Given the description of an element on the screen output the (x, y) to click on. 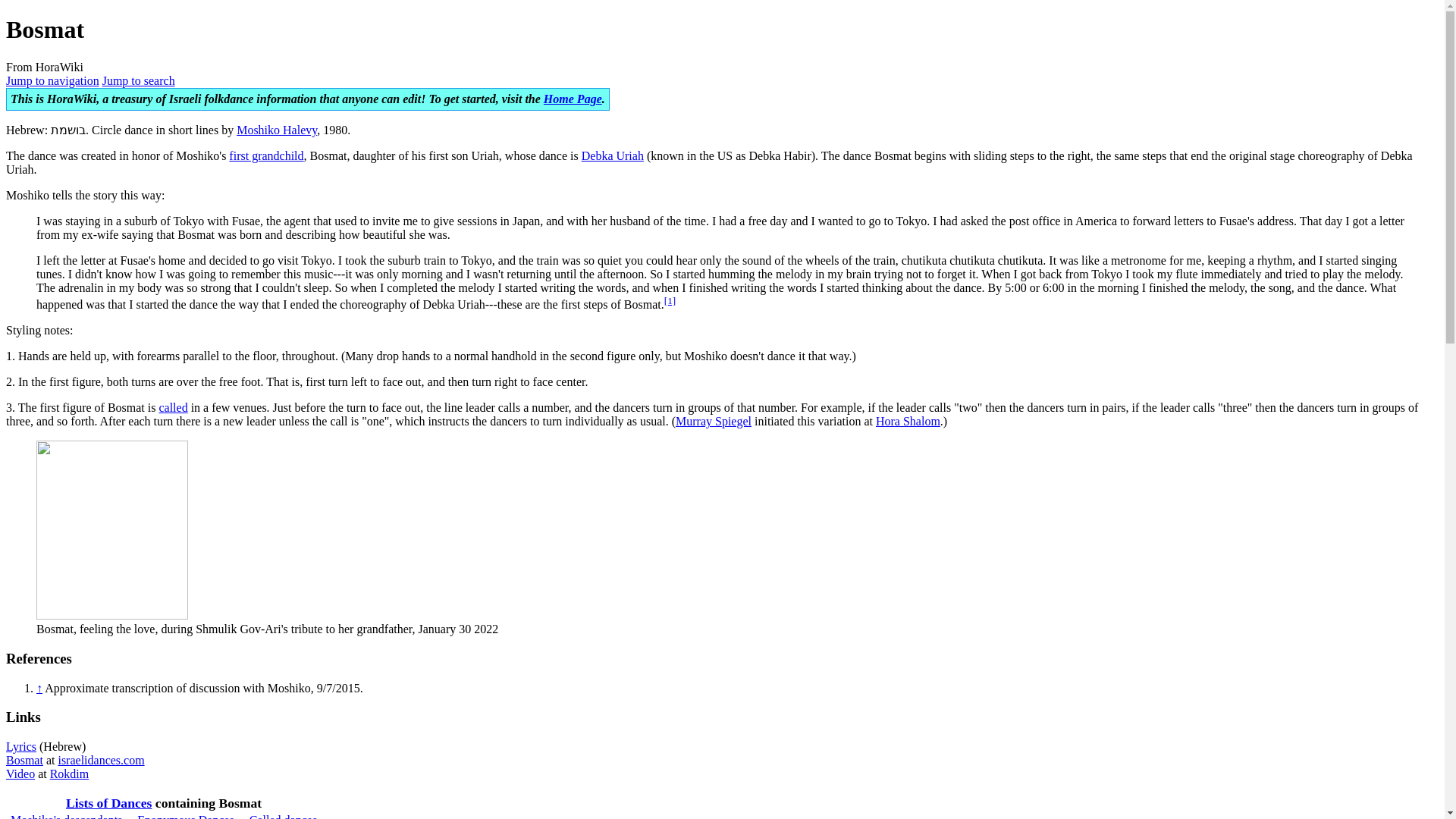
Eponymous Dances (185, 816)
Bosmat (24, 759)
Debka Uriah (611, 155)
first grandchild (265, 155)
Lists of Dances (108, 802)
Hora Shalom (908, 420)
Jump to navigation (52, 80)
Moshiko Halevy (276, 129)
Called dances (282, 816)
Home Page (572, 98)
Moshiko's descendants (66, 816)
Moshiko Halevy (276, 129)
Called dances (172, 407)
israelidances.com (101, 759)
Lists of Dances (108, 802)
